Given the description of an element on the screen output the (x, y) to click on. 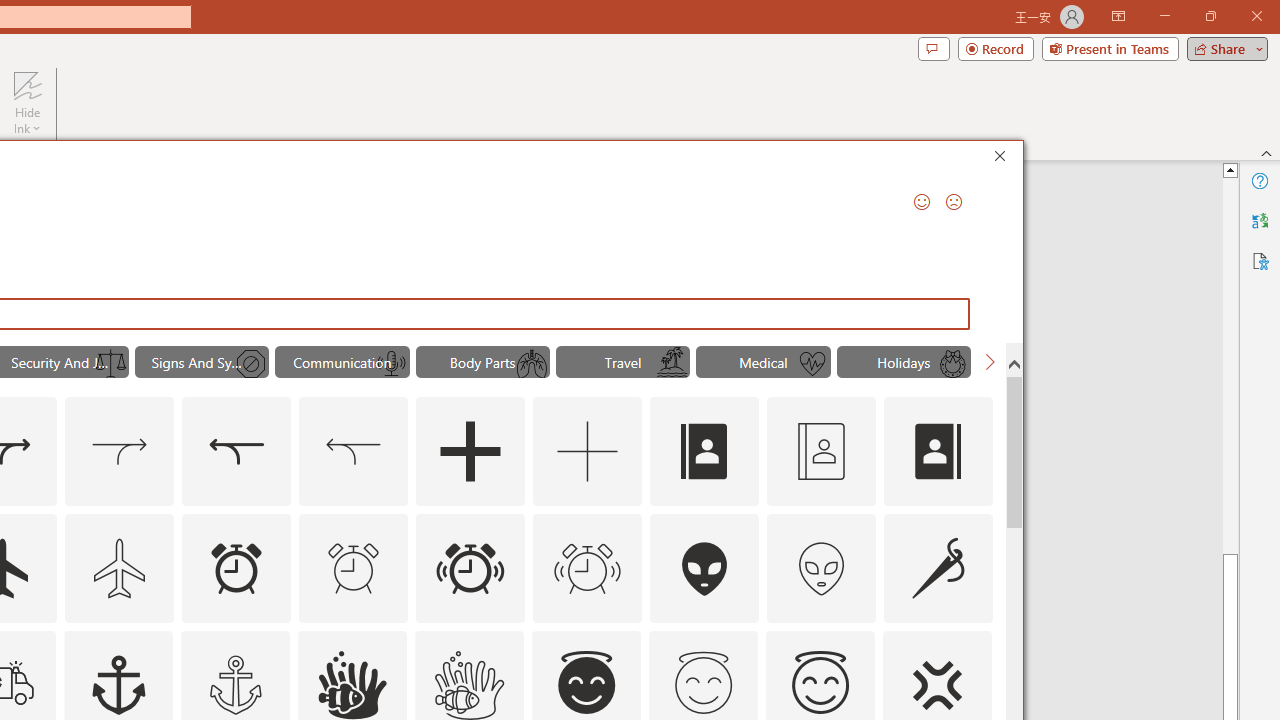
"Medical" Icons. (763, 362)
AutomationID: Icons_AlarmClock_M (353, 568)
AutomationID: Icons_AddressBook_LTR_M (821, 452)
"Signs And Symbols" Icons. (201, 362)
AutomationID: Icons_AlarmClock (236, 568)
